Given the description of an element on the screen output the (x, y) to click on. 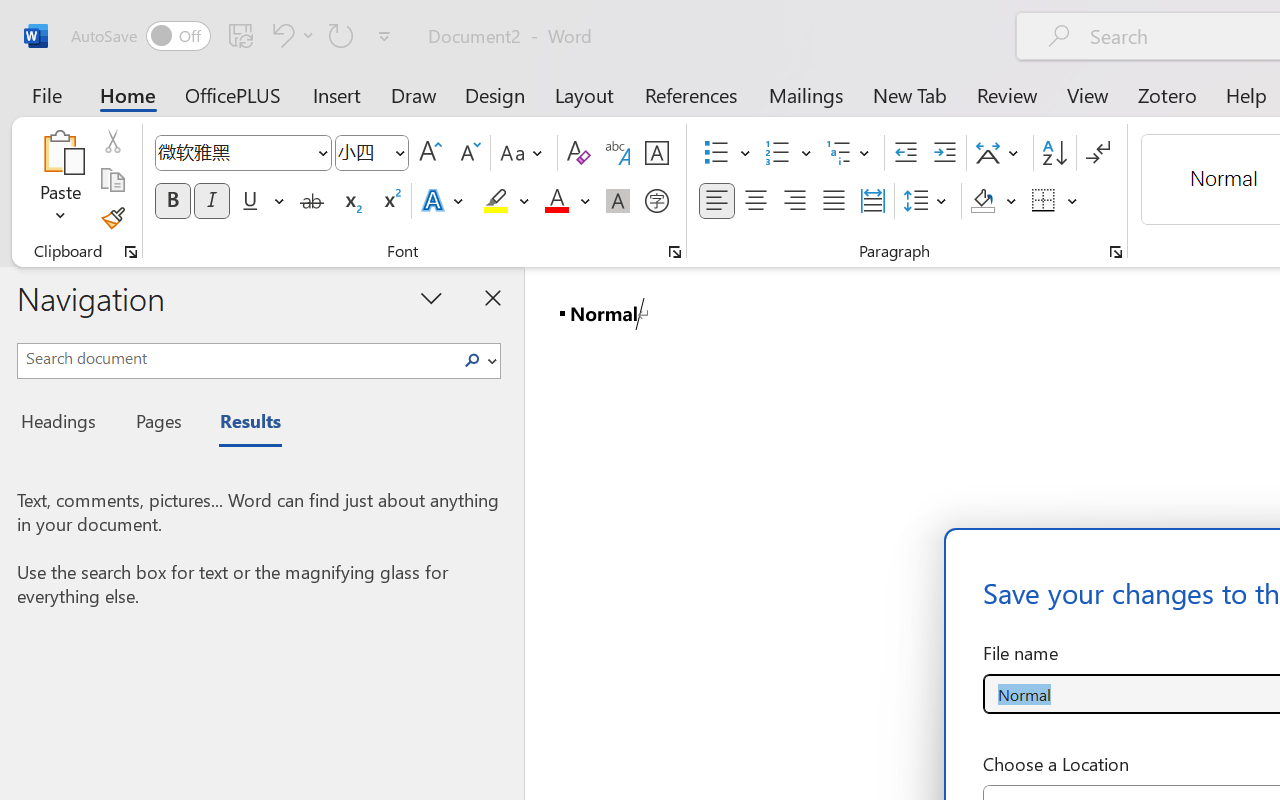
Quick Access Toolbar (233, 36)
Increase Indent (944, 153)
OfficePLUS (233, 94)
Office Clipboard... (131, 252)
Search document (236, 358)
Shading RGB(0, 0, 0) (982, 201)
Font... (675, 252)
Search (478, 360)
References (690, 94)
Undo Style (290, 35)
View (1087, 94)
Phonetic Guide... (618, 153)
Paste (60, 179)
Save (241, 35)
AutoSave (140, 35)
